Given the description of an element on the screen output the (x, y) to click on. 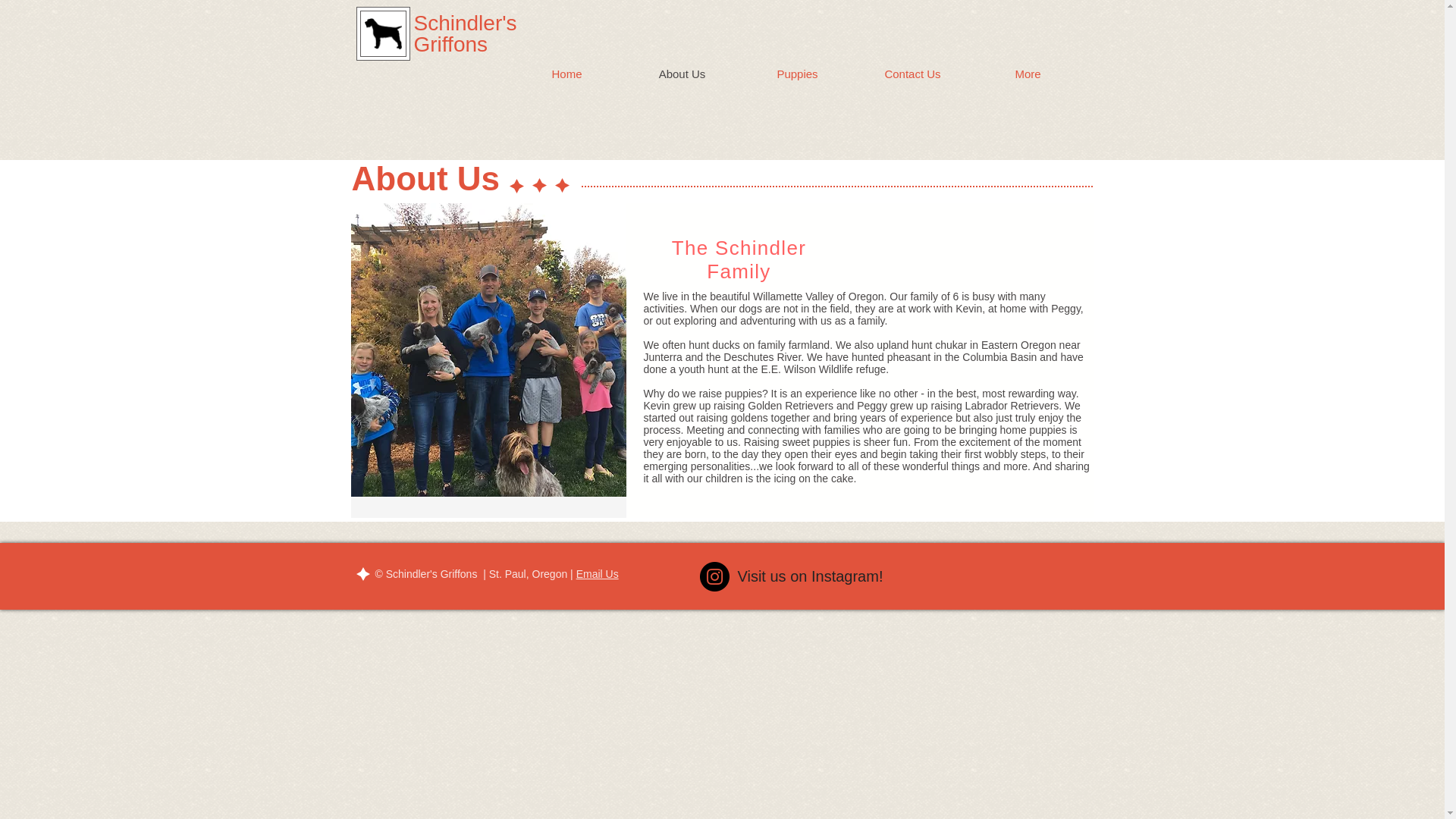
Home (566, 74)
About Us (681, 74)
Email Us (597, 573)
Contact Us (913, 74)
Puppies (797, 74)
